Given the description of an element on the screen output the (x, y) to click on. 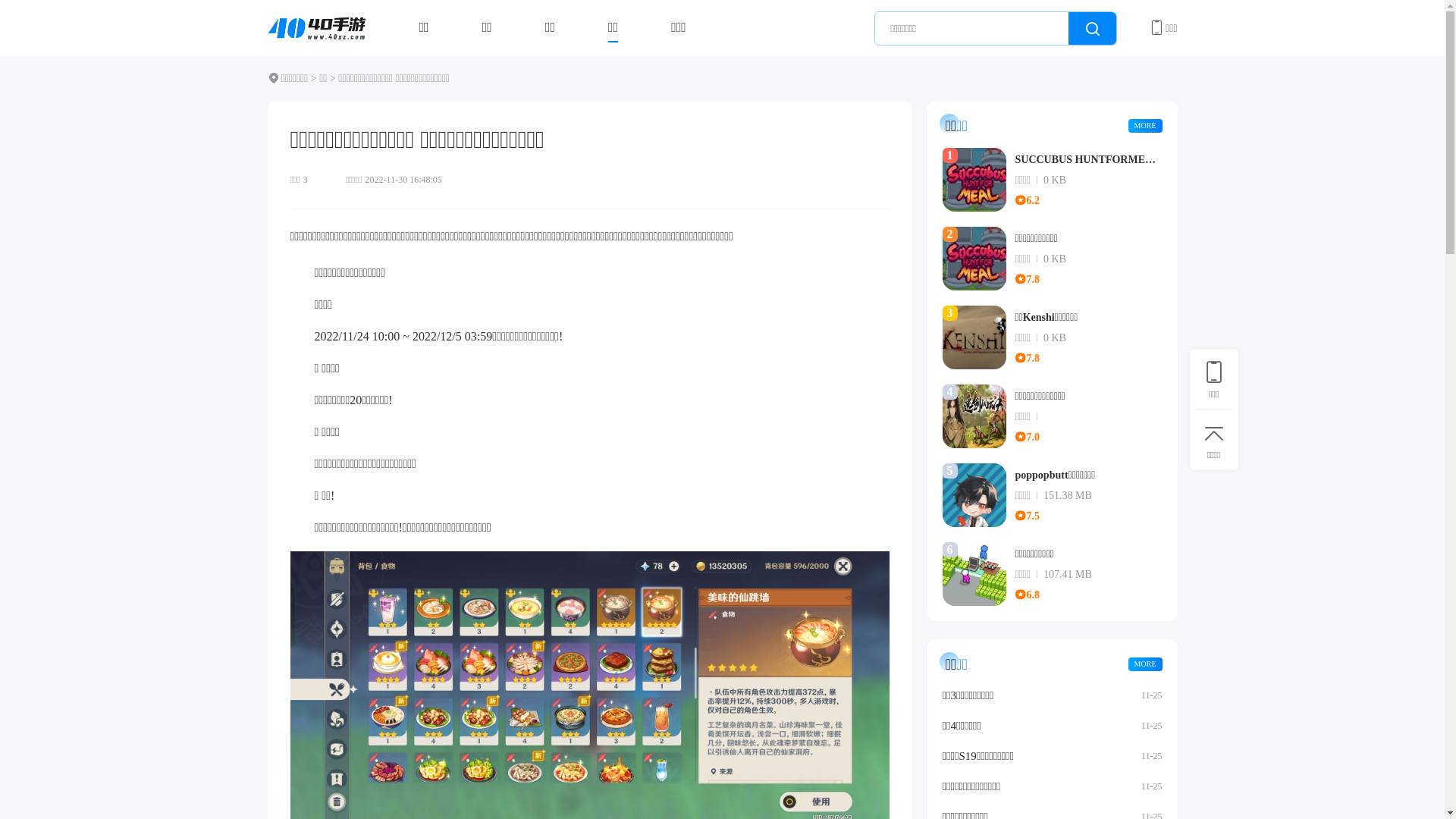
6 Element type: text (973, 573)
2 Element type: text (973, 258)
4 Element type: text (973, 416)
MORE Element type: text (1145, 664)
5 Element type: text (973, 495)
MORE Element type: text (1145, 125)
3 Element type: text (973, 337)
1 Element type: text (973, 179)
